Given the description of an element on the screen output the (x, y) to click on. 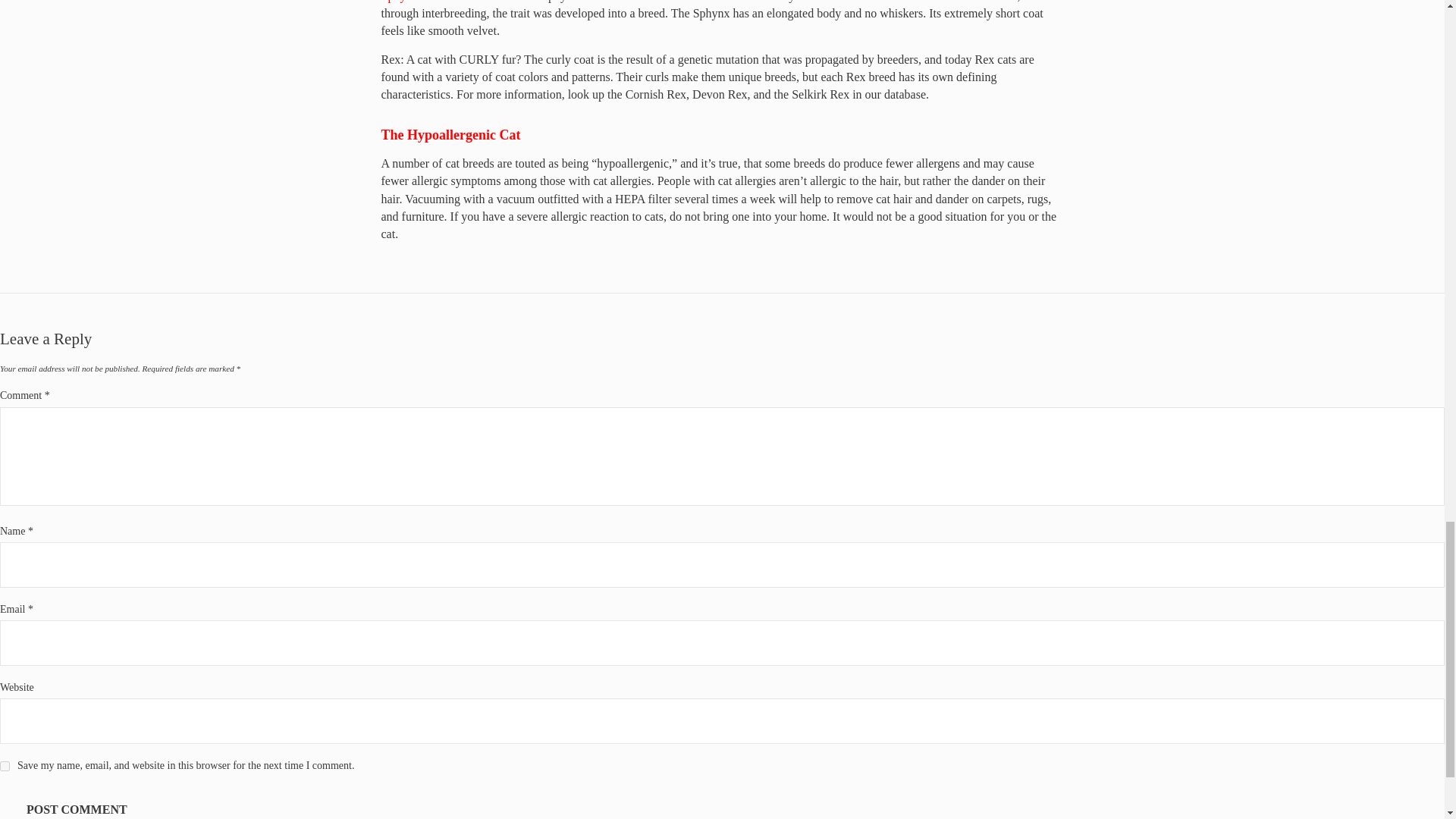
Post Comment (77, 803)
Post Comment (77, 803)
yes (5, 766)
